Given the description of an element on the screen output the (x, y) to click on. 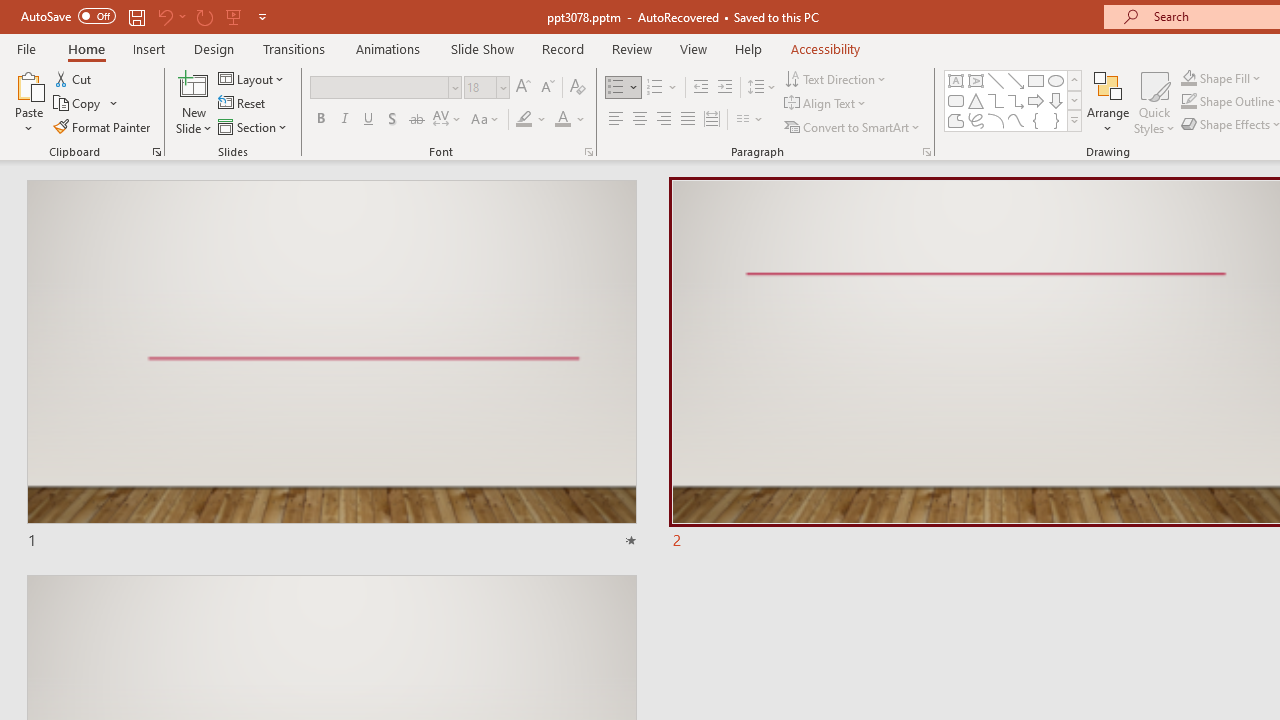
Strikethrough (416, 119)
Columns (750, 119)
Align Text (826, 103)
Line (995, 80)
Increase Indent (725, 87)
Decrease Font Size (547, 87)
Font Color Red (562, 119)
Shape Outline Green, Accent 1 (1188, 101)
Design (214, 48)
Quick Access Toolbar (145, 16)
Font (379, 87)
Distributed (712, 119)
Reset (243, 103)
Bullets (616, 87)
Rectangle: Rounded Corners (955, 100)
